Given the description of an element on the screen output the (x, y) to click on. 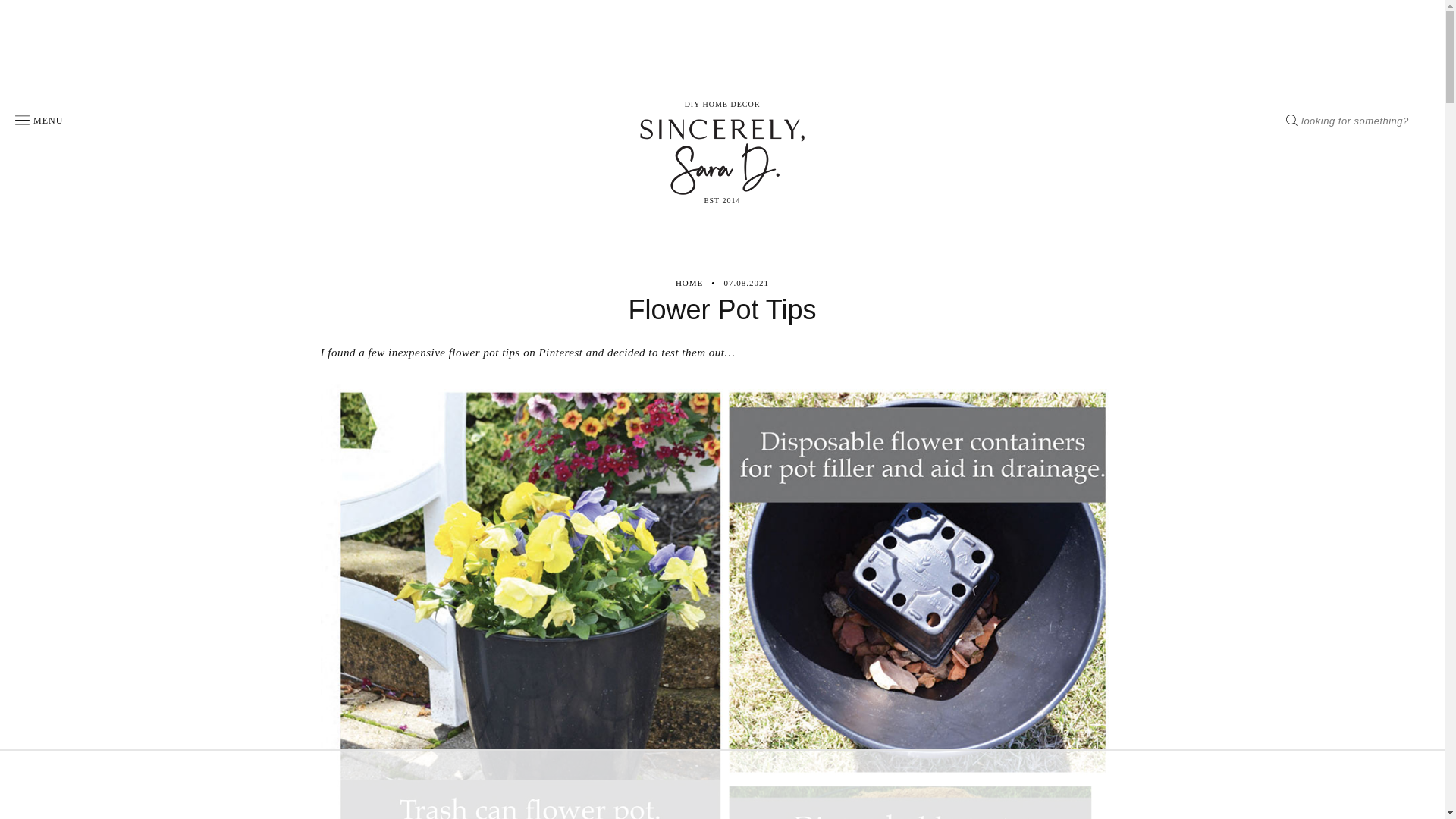
HOME (689, 282)
